Given the description of an element on the screen output the (x, y) to click on. 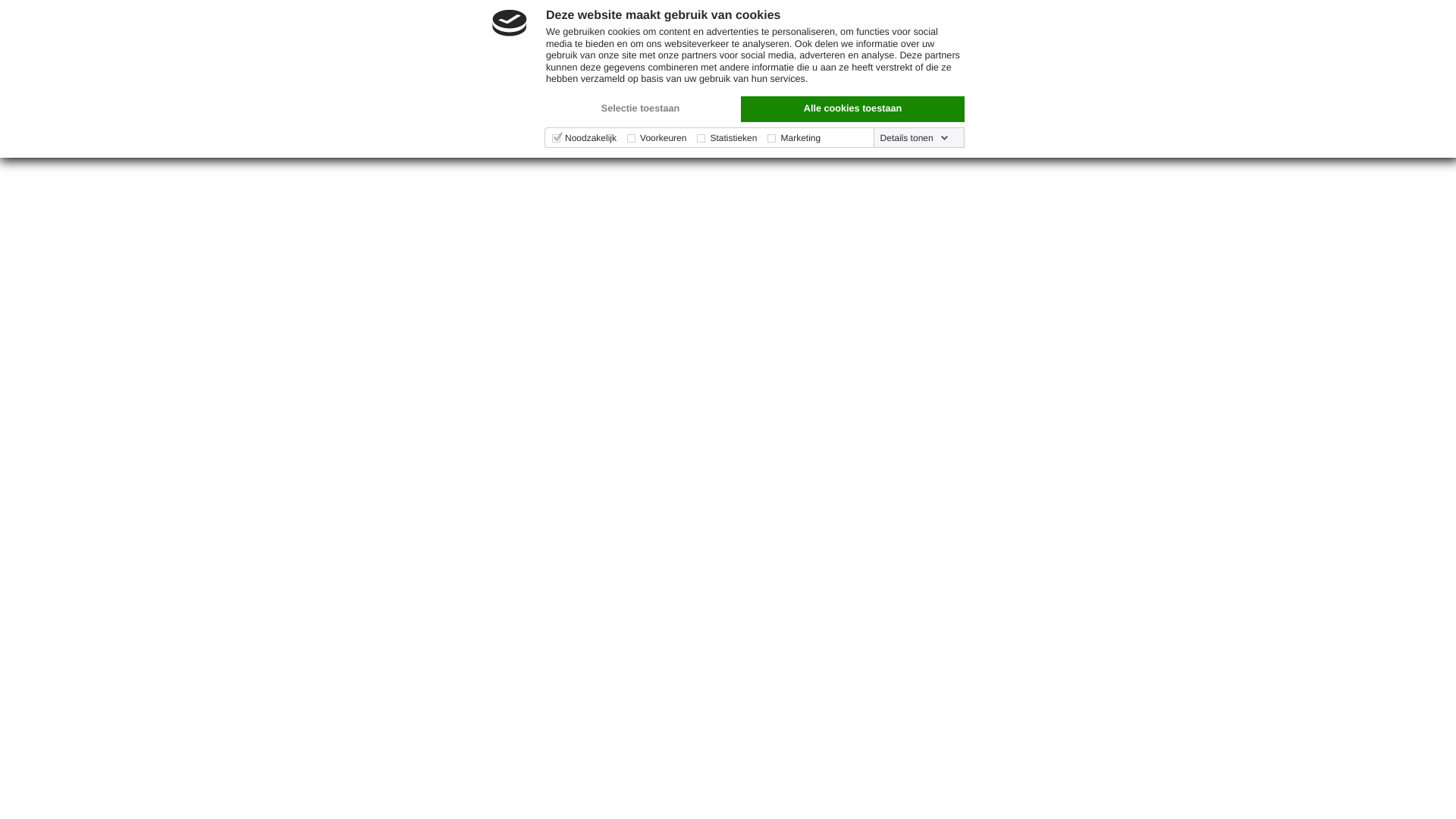
Alle cookies toestaan Element type: text (852, 109)
1675 Element type: text (758, 510)
Details tonen Element type: text (914, 137)
Selectie toestaan Element type: text (640, 108)
